Given the description of an element on the screen output the (x, y) to click on. 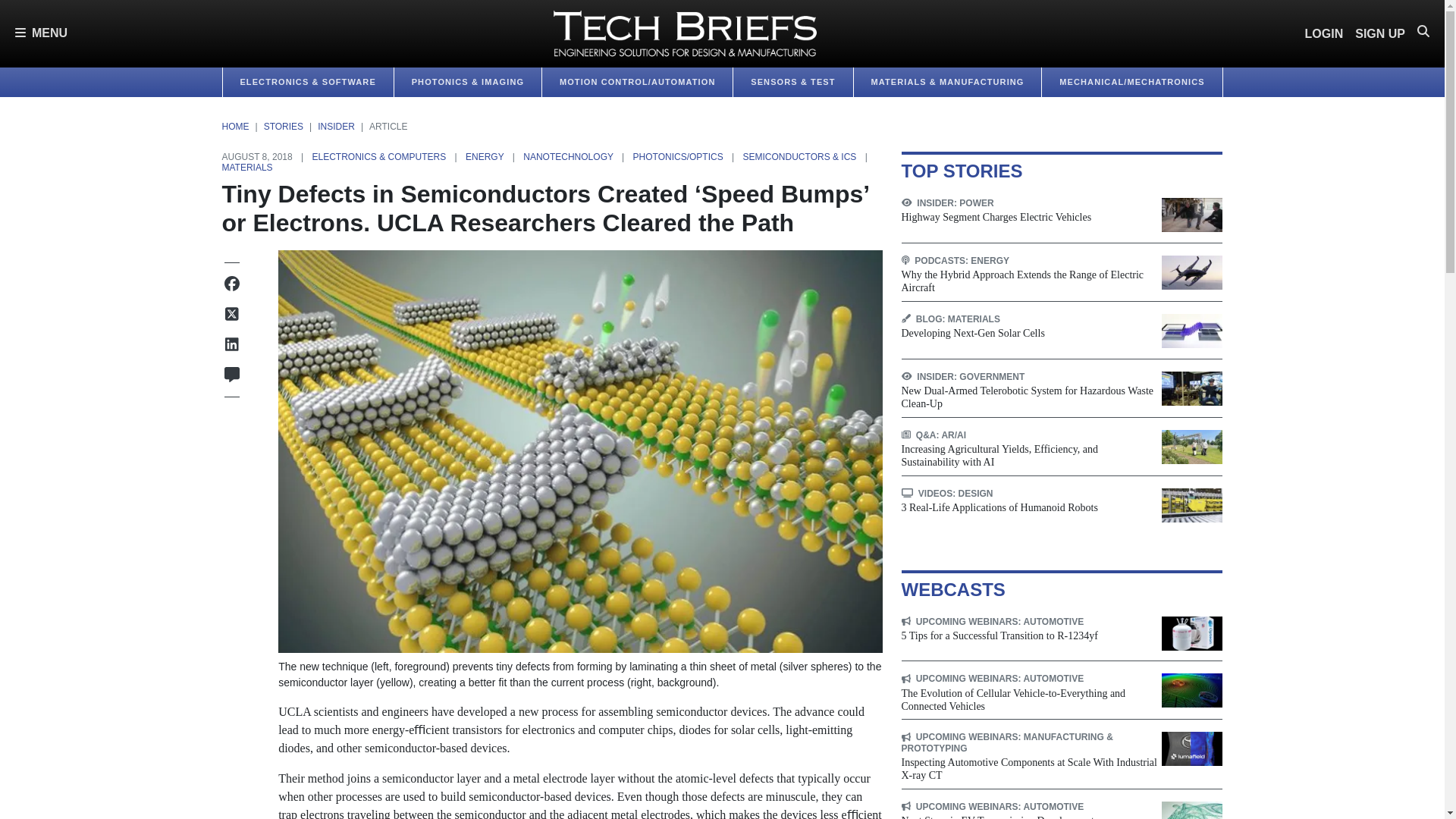
LOGIN (1323, 32)
MENU (41, 33)
SIGN UP (1379, 32)
